Given the description of an element on the screen output the (x, y) to click on. 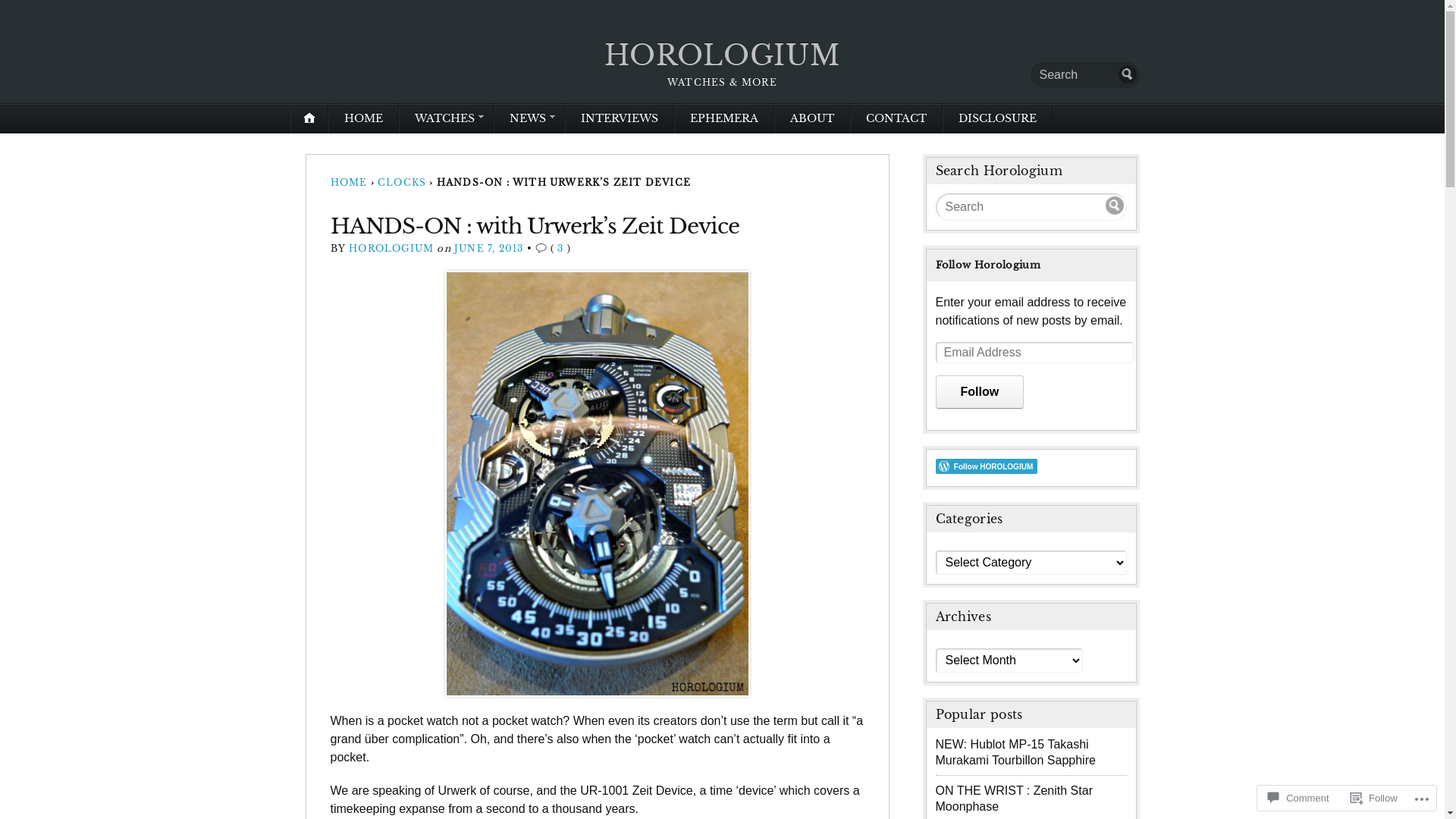
WATCHES Element type: text (445, 117)
3 Element type: text (560, 248)
HOROLOGIUM Element type: text (721, 55)
HOME Element type: text (348, 182)
Comment Element type: text (1297, 797)
EPHEMERA Element type: text (723, 117)
HOROLOGIUM Element type: text (390, 248)
CONTACT Element type: text (895, 117)
Follow Element type: text (979, 391)
DISCLOSURE Element type: text (997, 117)
CLOCKS Element type: text (401, 182)
ON THE WRIST : Zenith Star Moonphase Element type: text (1013, 798)
HOME Element type: text (363, 117)
ABOUT Element type: text (812, 117)
NEWS Element type: text (529, 117)
JUNE 7, 2013 Element type: text (488, 248)
NEW: Hublot MP-15 Takashi Murakami Tourbillon Sapphire Element type: text (1015, 751)
INTERVIEWS Element type: text (619, 117)
Follow Element type: text (1373, 797)
Follow Button Element type: hover (1030, 465)
